Given the description of an element on the screen output the (x, y) to click on. 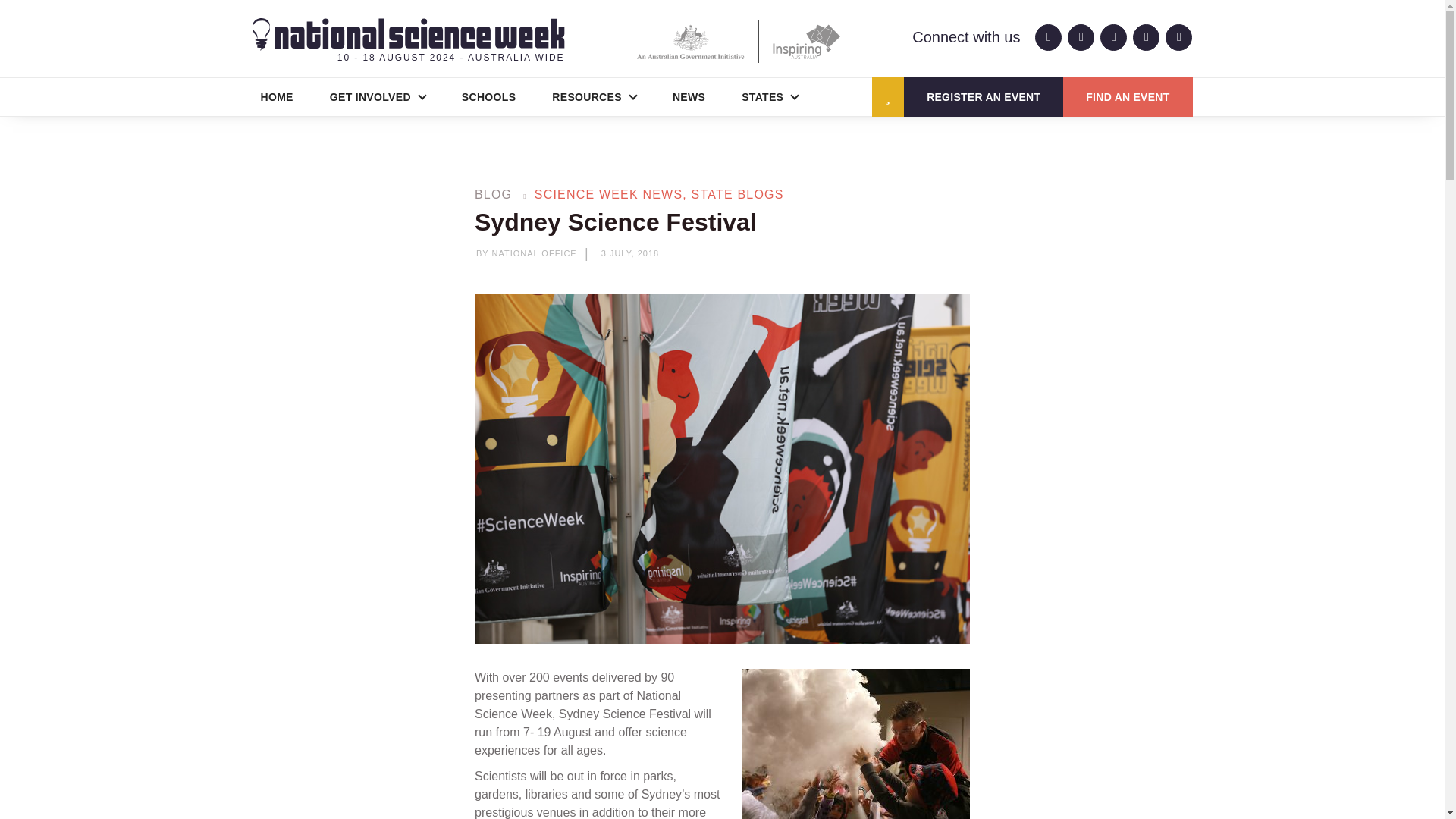
Get Involved (377, 96)
Resources (594, 96)
HOME (276, 96)
REGISTER AN EVENT (983, 96)
BLOG (493, 194)
RESOURCES (594, 96)
10 - 18 AUGUST 2024 - AUSTRALIA WIDE (407, 41)
STATES (769, 96)
Home (276, 96)
GET INVOLVED (377, 96)
